Given the description of an element on the screen output the (x, y) to click on. 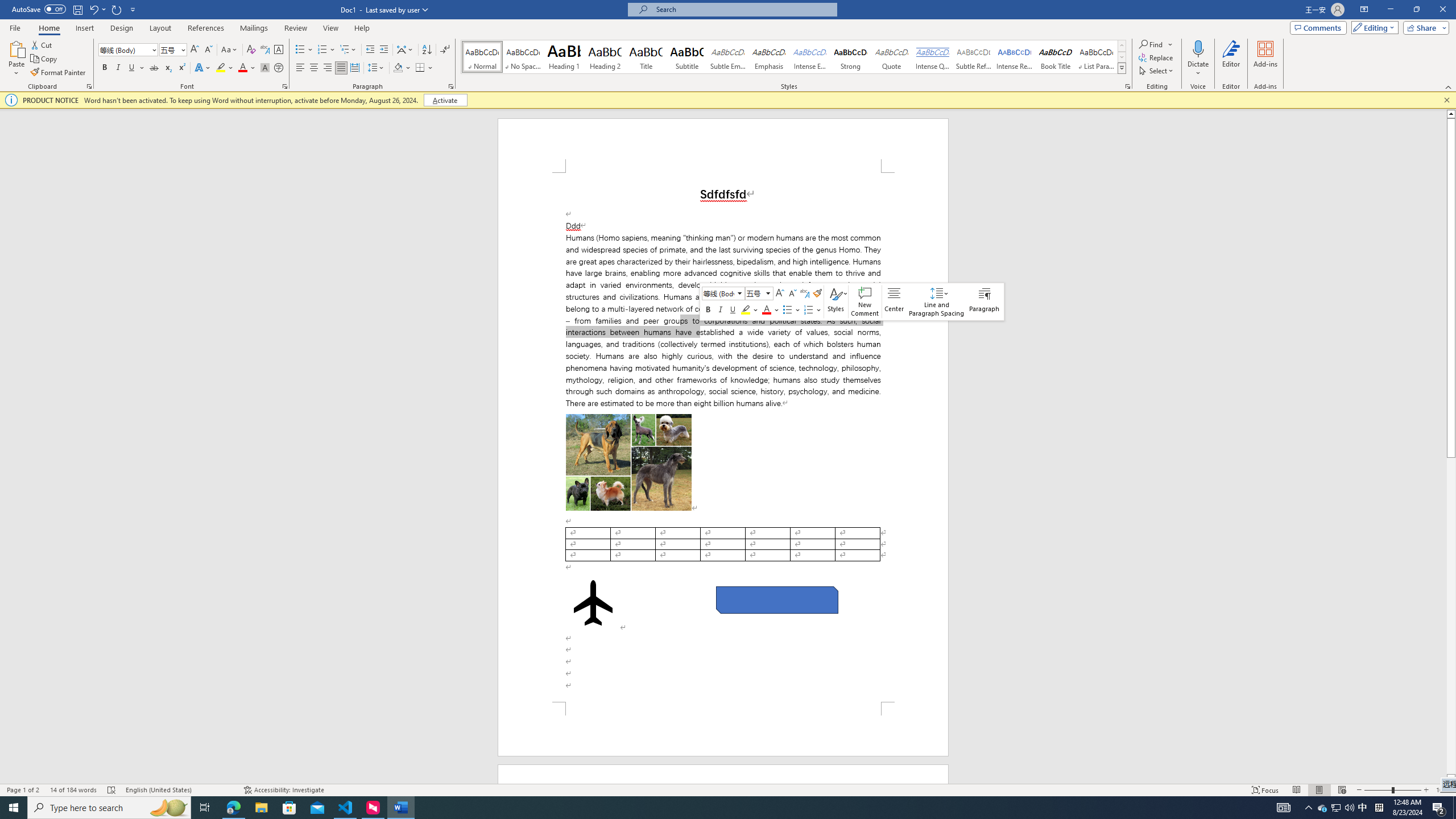
Font Color RGB(255, 0, 0) (241, 67)
Undo Typing (96, 9)
Intense Quote (932, 56)
Morphological variation in six dogs (628, 462)
